Given the description of an element on the screen output the (x, y) to click on. 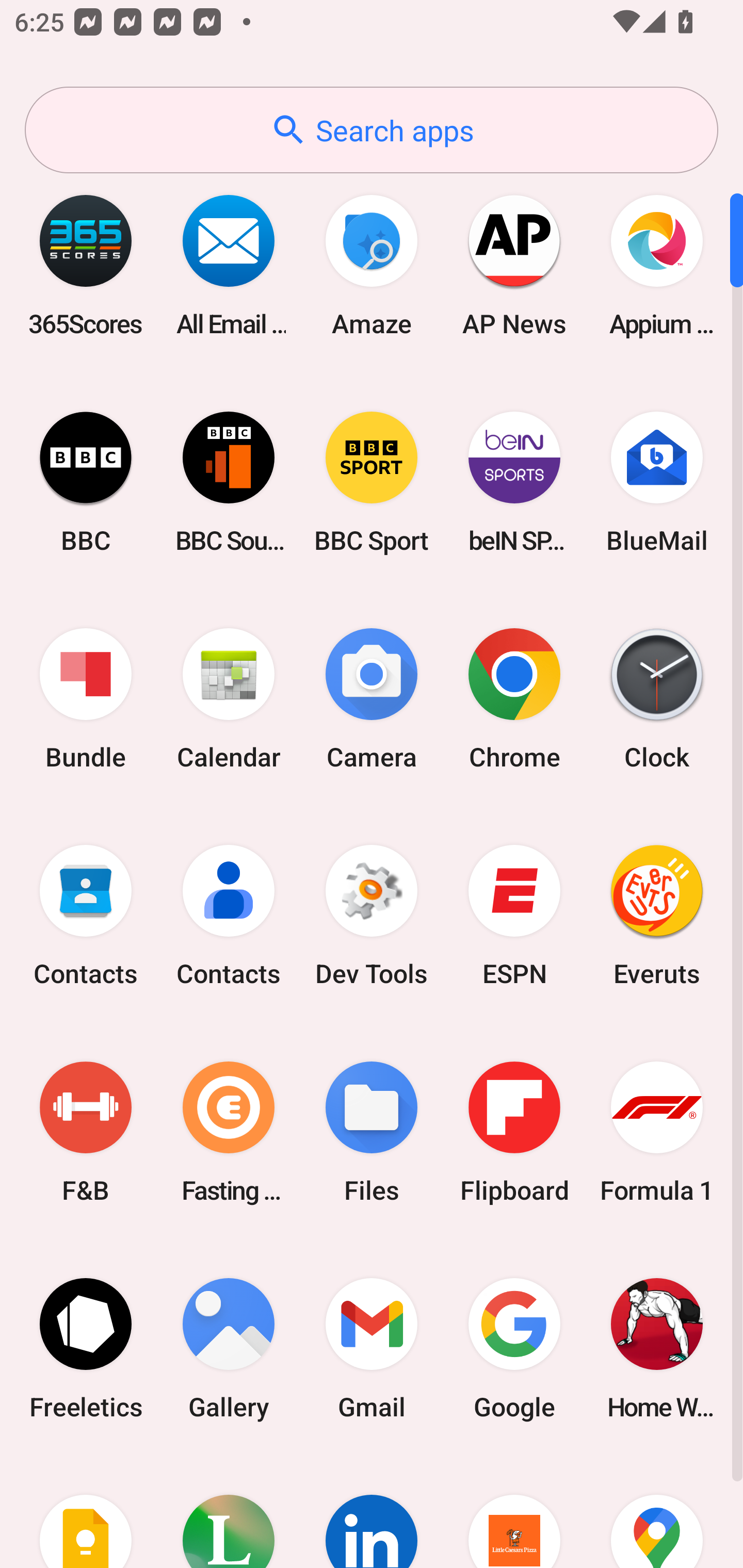
  Search apps (371, 130)
365Scores (85, 264)
All Email Connect (228, 264)
Amaze (371, 264)
AP News (514, 264)
Appium Settings (656, 264)
BBC (85, 482)
BBC Sounds (228, 482)
BBC Sport (371, 482)
beIN SPORTS (514, 482)
BlueMail (656, 482)
Bundle (85, 699)
Calendar (228, 699)
Camera (371, 699)
Chrome (514, 699)
Clock (656, 699)
Contacts (85, 915)
Contacts (228, 915)
Dev Tools (371, 915)
ESPN (514, 915)
Everuts (656, 915)
F&B (85, 1131)
Fasting Coach (228, 1131)
Files (371, 1131)
Flipboard (514, 1131)
Formula 1 (656, 1131)
Freeletics (85, 1348)
Gallery (228, 1348)
Gmail (371, 1348)
Google (514, 1348)
Home Workout (656, 1348)
Keep Notes (85, 1512)
Lifesum (228, 1512)
LinkedIn (371, 1512)
Little Caesars Pizza (514, 1512)
Maps (656, 1512)
